Given the description of an element on the screen output the (x, y) to click on. 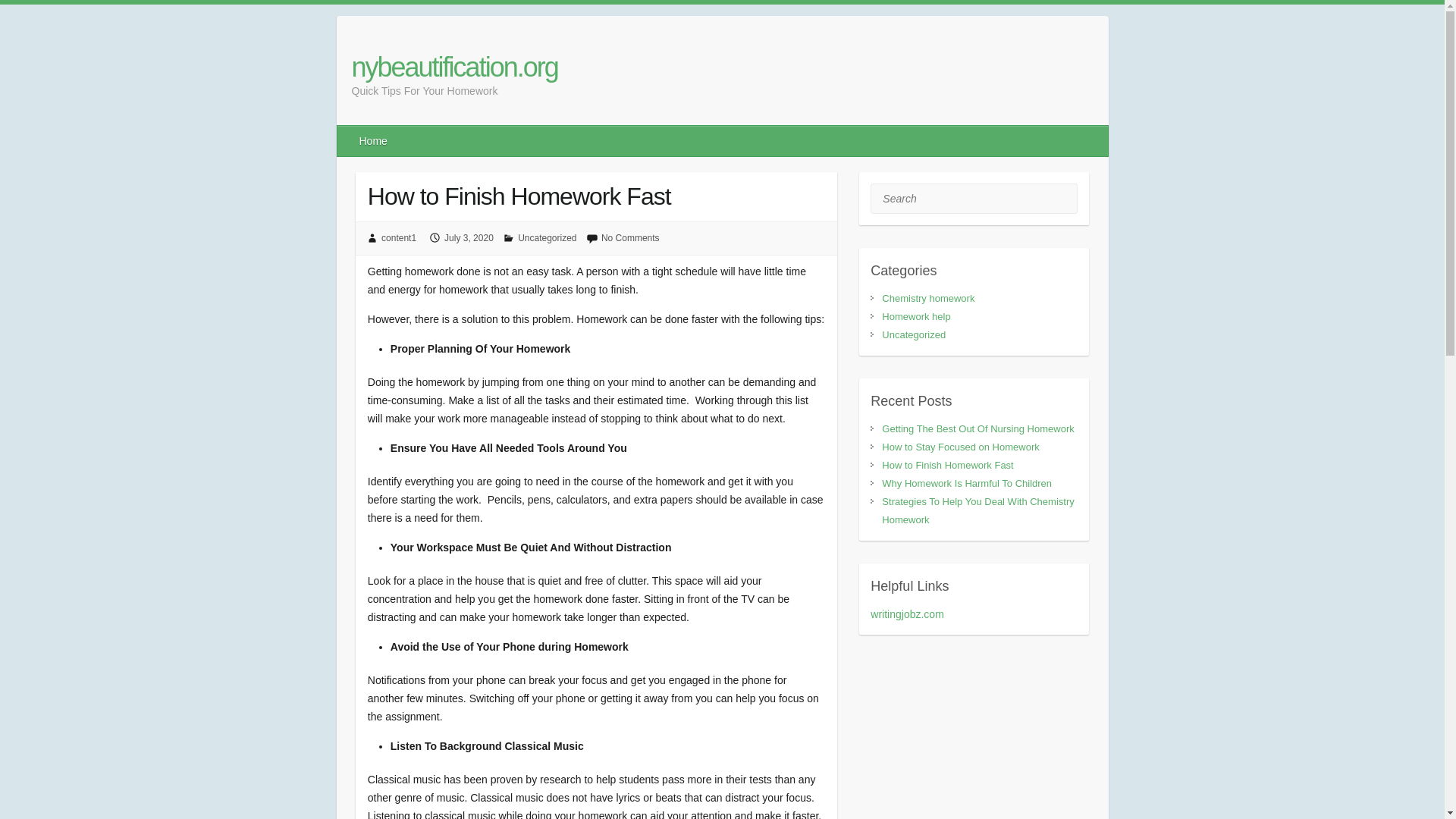
Chemistry homework (928, 297)
Strategies To Help You Deal With Chemistry Homework (978, 510)
July 3, 2020 (468, 237)
nybeautification.org (454, 67)
nybeautification.org (454, 67)
No Comments (630, 237)
Uncategorized (547, 237)
How to Finish Homework Fast (947, 464)
writingjobz.com (906, 613)
How to Stay Focused on Homework (960, 446)
